Given the description of an element on the screen output the (x, y) to click on. 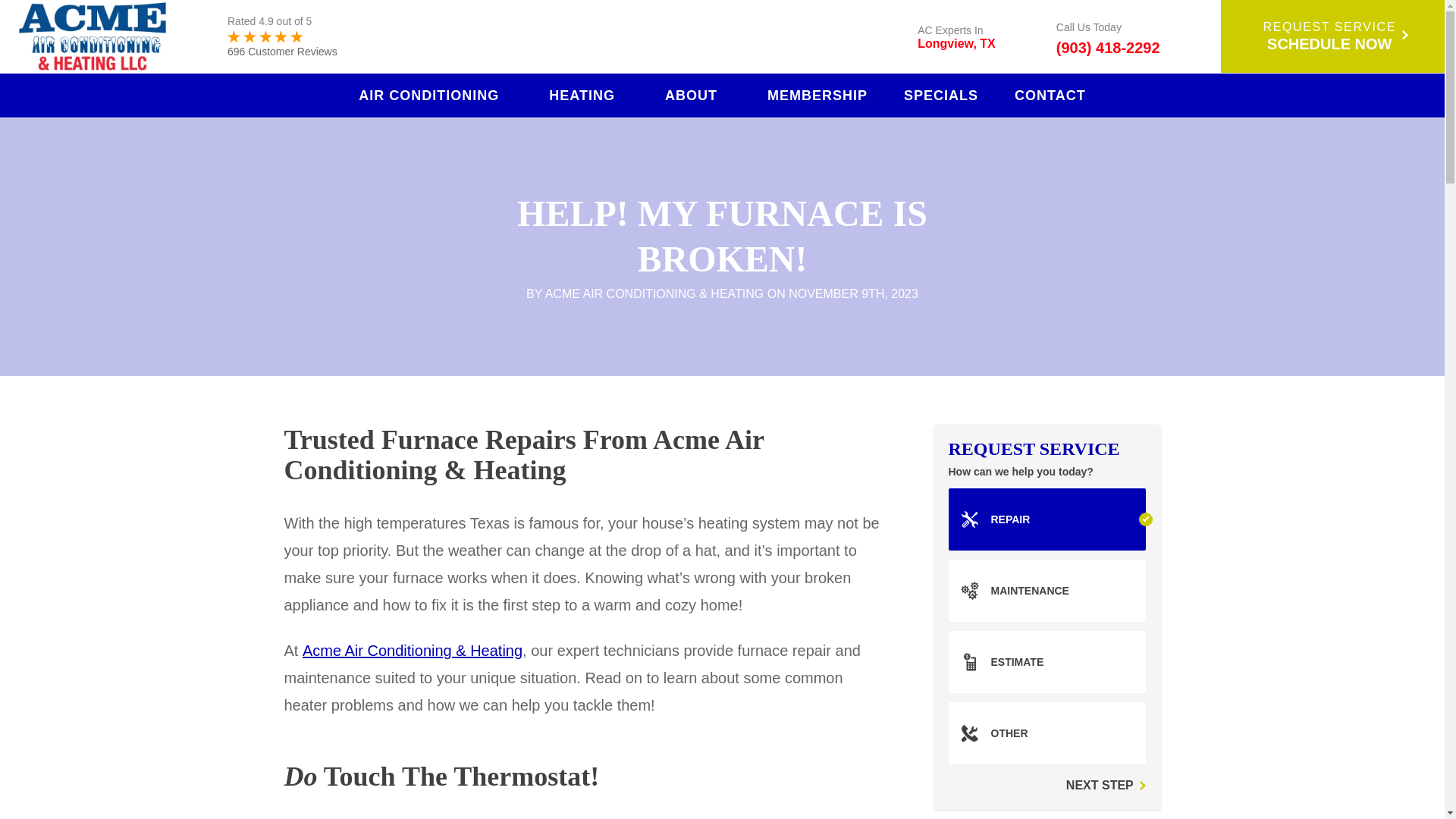
AIR CONDITIONING (435, 95)
